Given the description of an element on the screen output the (x, y) to click on. 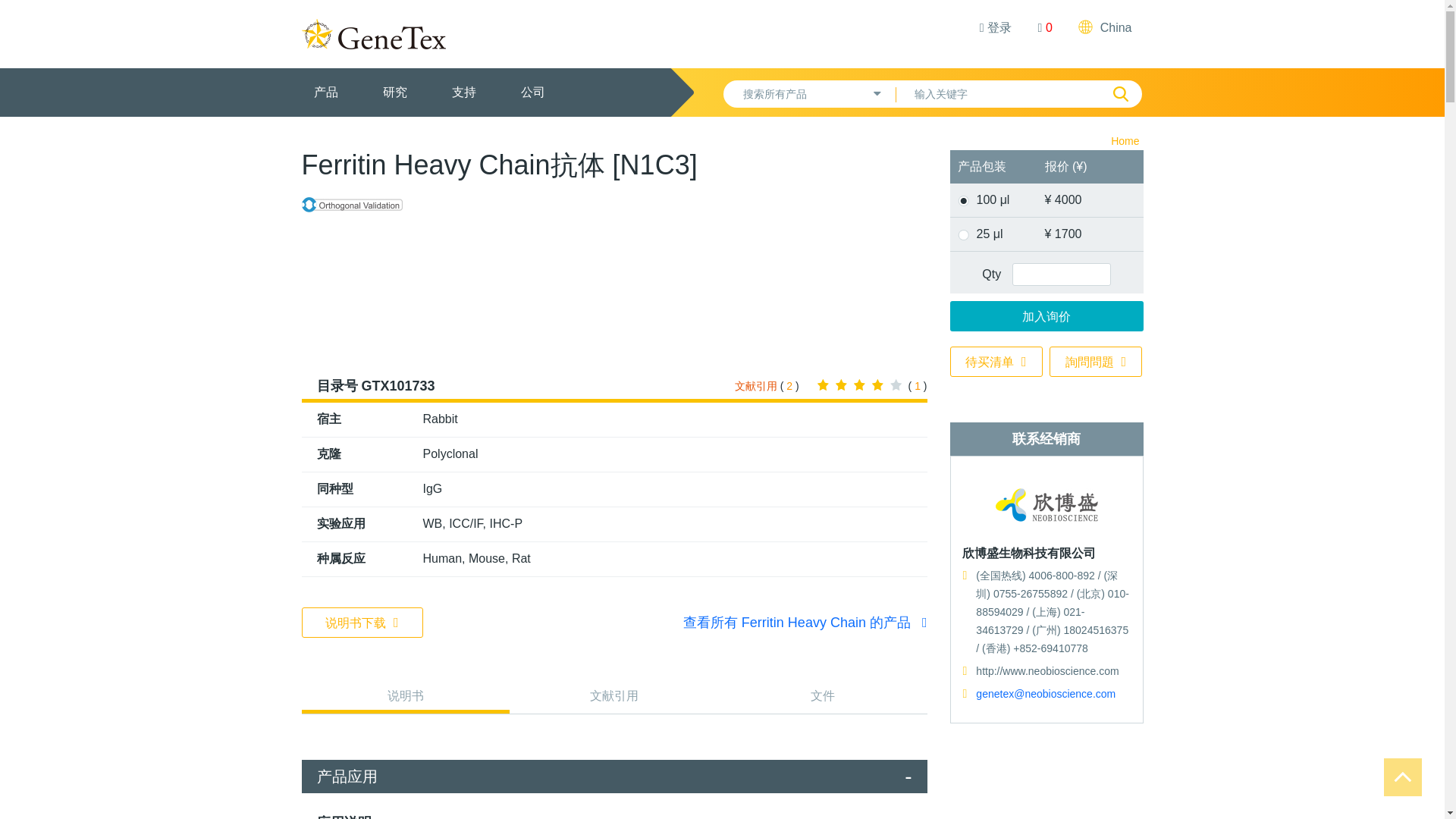
Home (1124, 141)
Orthogonal (352, 204)
Orthogonal (352, 204)
